Given the description of an element on the screen output the (x, y) to click on. 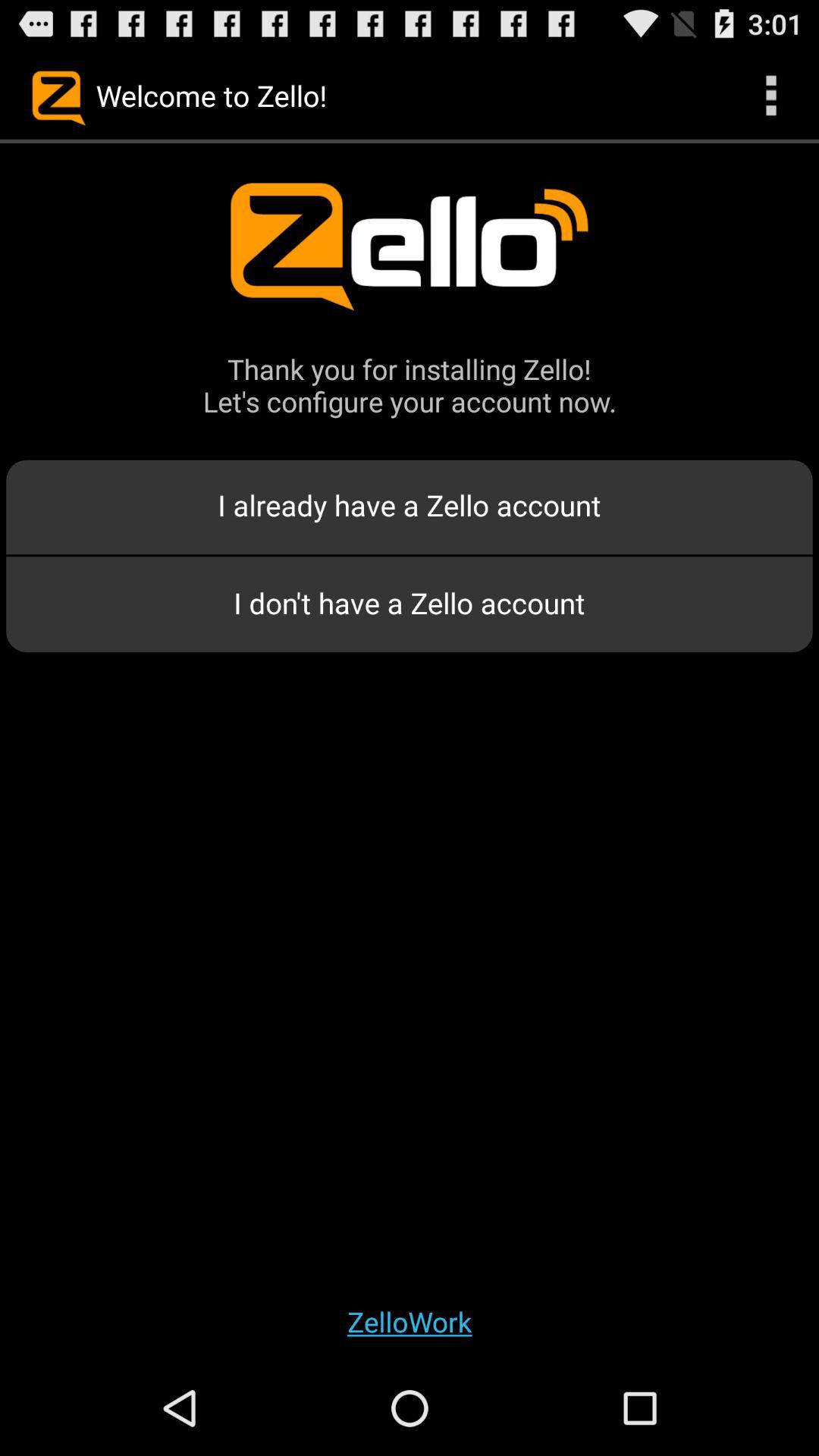
choose the app at the bottom (409, 1321)
